Given the description of an element on the screen output the (x, y) to click on. 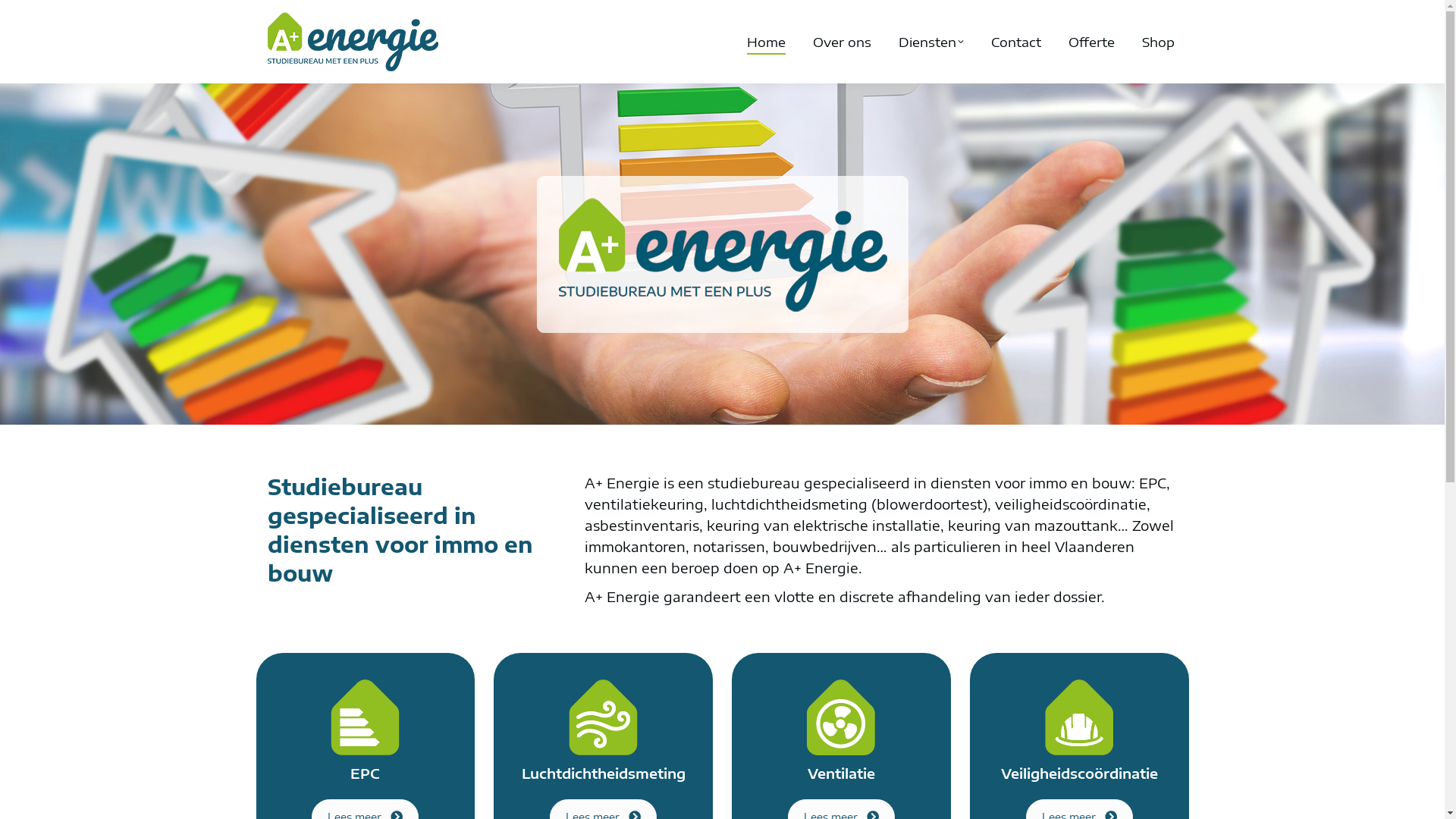
Diensten Element type: text (930, 41)
Home Element type: text (765, 41)
Offerte Element type: text (1090, 41)
epc regio genk Element type: hover (364, 717)
Shop Element type: text (1158, 41)
Contact Element type: text (1015, 41)
Over ons Element type: text (841, 41)
luchtdichtheidsmeting regio genk Element type: hover (602, 717)
ventilatie regio genk Element type: hover (840, 717)
